Given the description of an element on the screen output the (x, y) to click on. 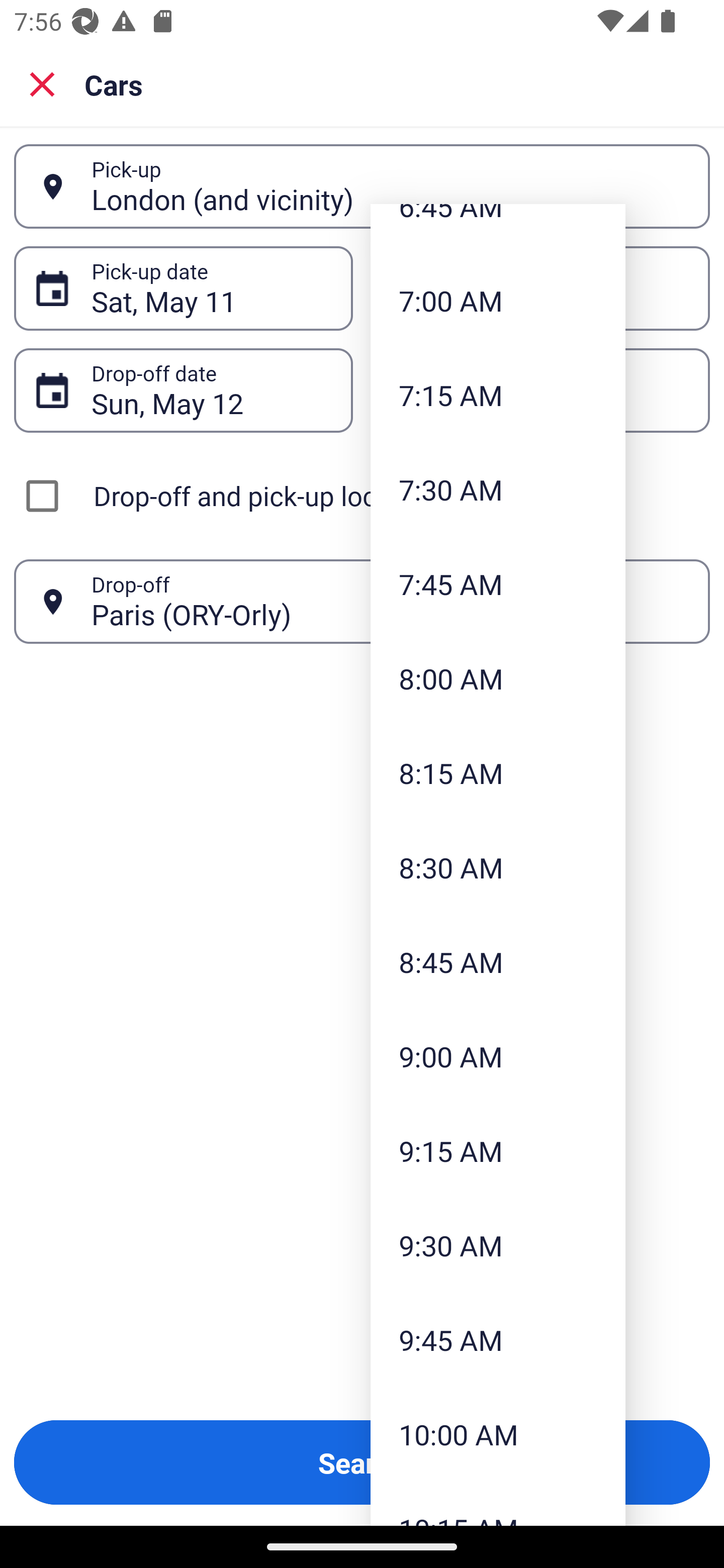
7:00 AM (497, 301)
7:15 AM (497, 395)
7:30 AM (497, 489)
7:45 AM (497, 583)
8:00 AM (497, 678)
8:15 AM (497, 772)
8:30 AM (497, 867)
8:45 AM (497, 961)
9:00 AM (497, 1056)
9:15 AM (497, 1150)
9:30 AM (497, 1244)
9:45 AM (497, 1339)
10:00 AM (497, 1434)
